Given the description of an element on the screen output the (x, y) to click on. 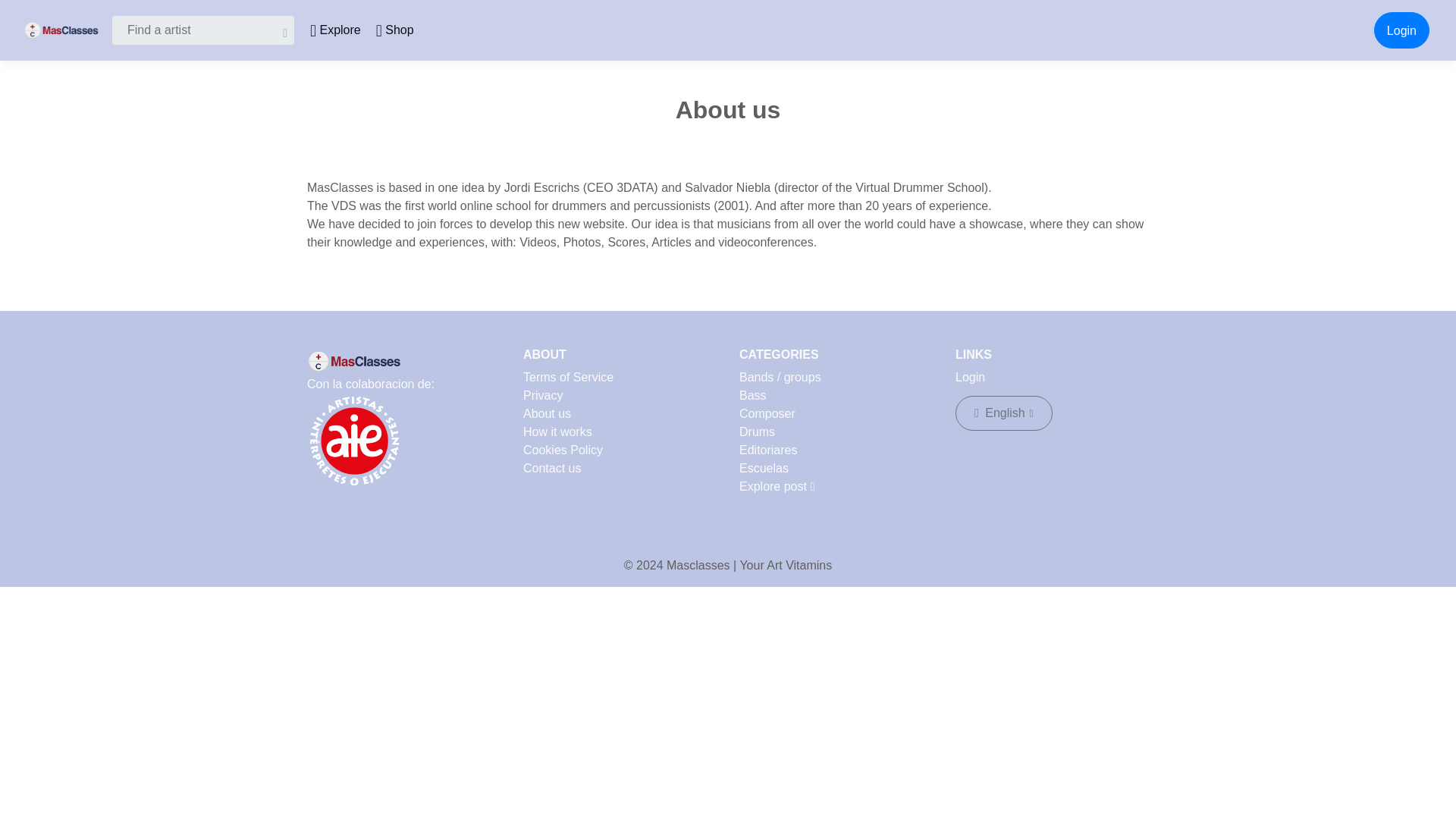
Login (1401, 30)
Drums (756, 431)
How it works (557, 431)
Terms of Service (567, 377)
Cookies Policy (562, 449)
Escuelas (764, 468)
Bass (753, 395)
Login (970, 377)
Composer (766, 413)
About us (546, 413)
